Given the description of an element on the screen output the (x, y) to click on. 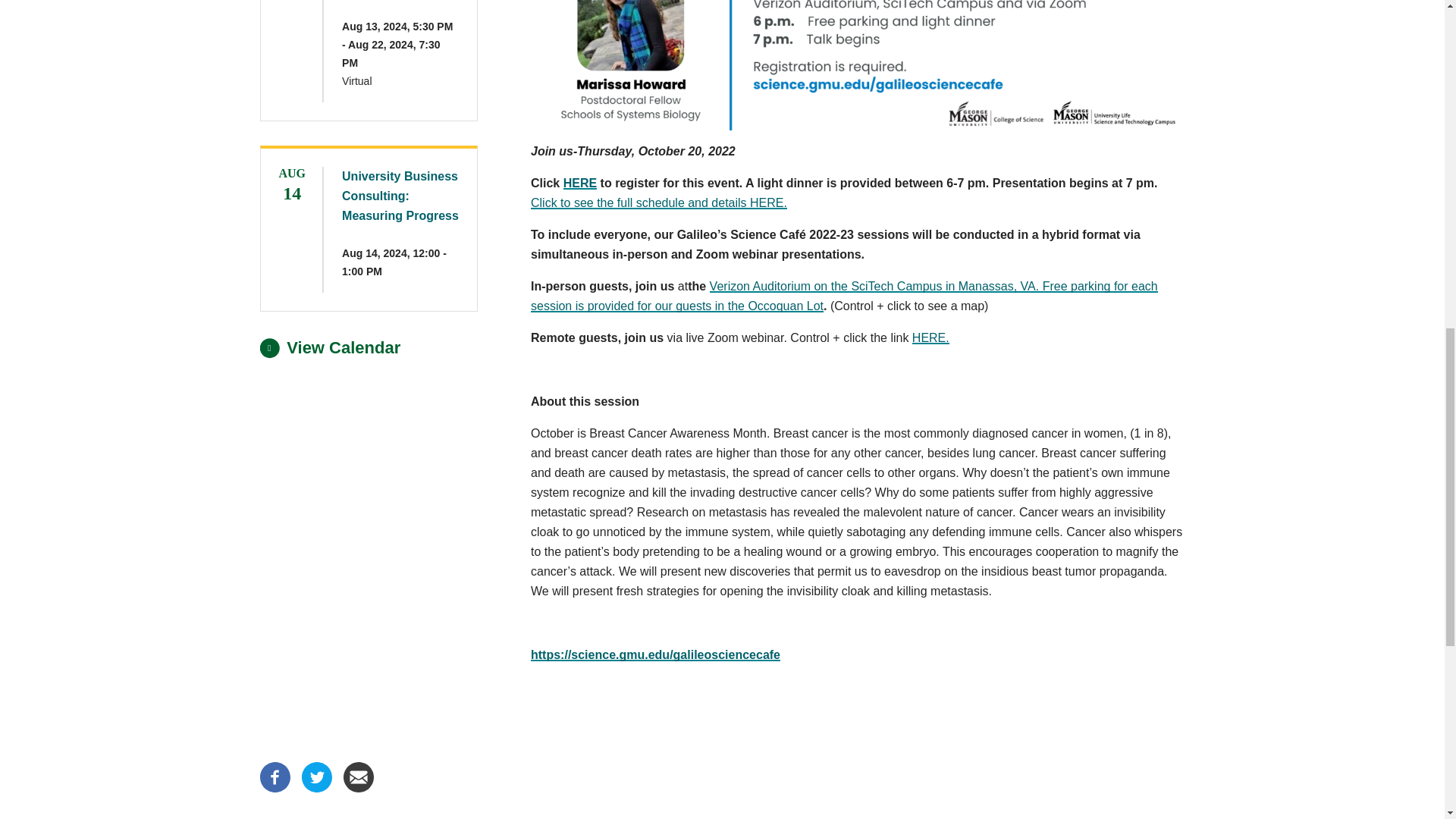
View Calendar (329, 347)
HERE. (930, 337)
Email (357, 788)
Twitter (316, 788)
University Business Consulting: Measuring Progress (400, 195)
HERE (579, 182)
Click to see the full schedule and details HERE. (659, 202)
Facebook (274, 788)
